Given the description of an element on the screen output the (x, y) to click on. 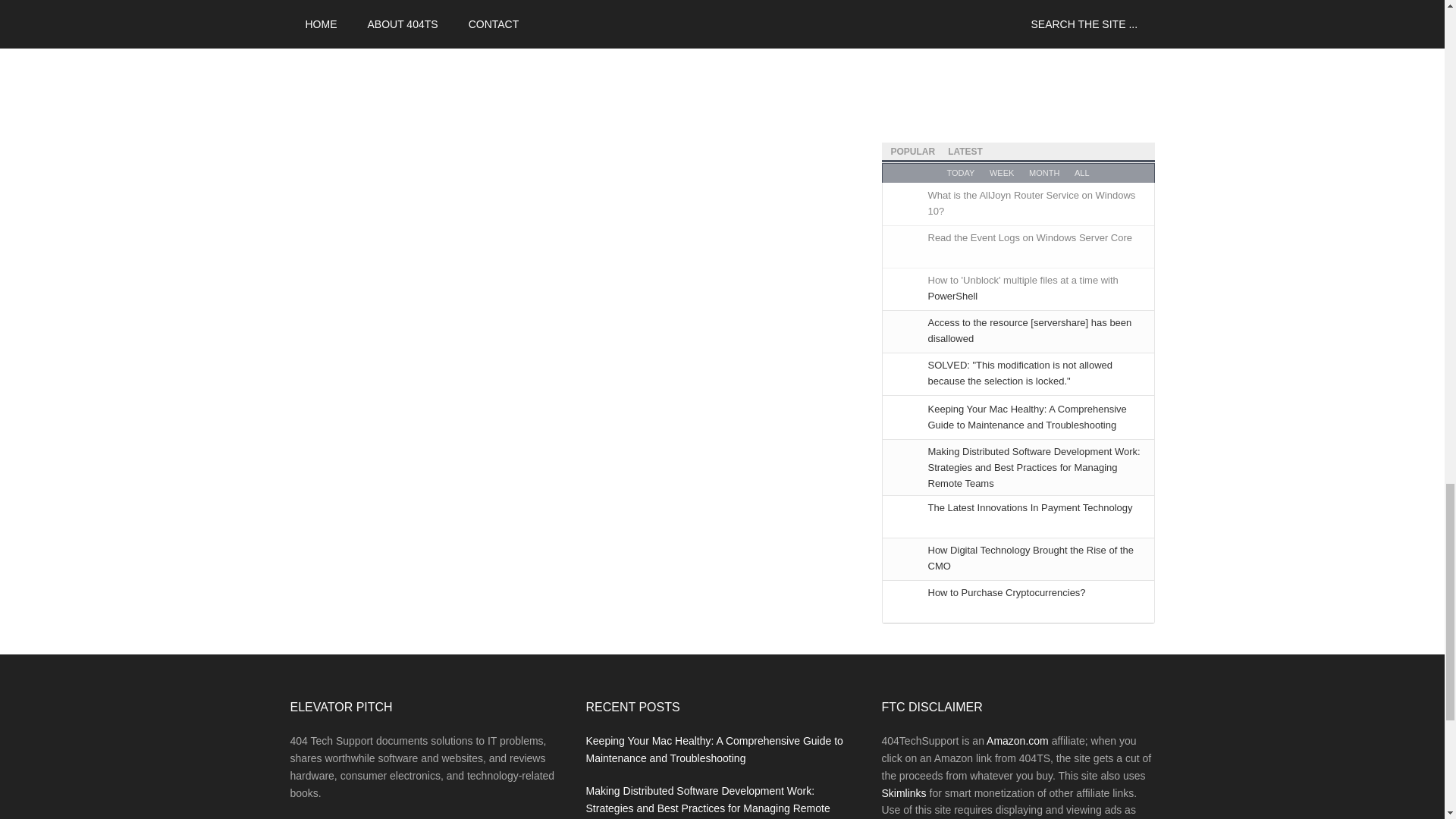
Advertisement (1017, 54)
The Latest Innovations In Payment Technology (1030, 507)
How to Purchase Cryptocurrencies? (1007, 592)
How to 'Unblock' multiple files at a time with PowerShell (1023, 288)
Read the Event Logs on Windows Server Core (1030, 237)
What is the AllJoyn Router Service on Windows 10? (1031, 203)
SOLVED:  (1020, 372)
